Given the description of an element on the screen output the (x, y) to click on. 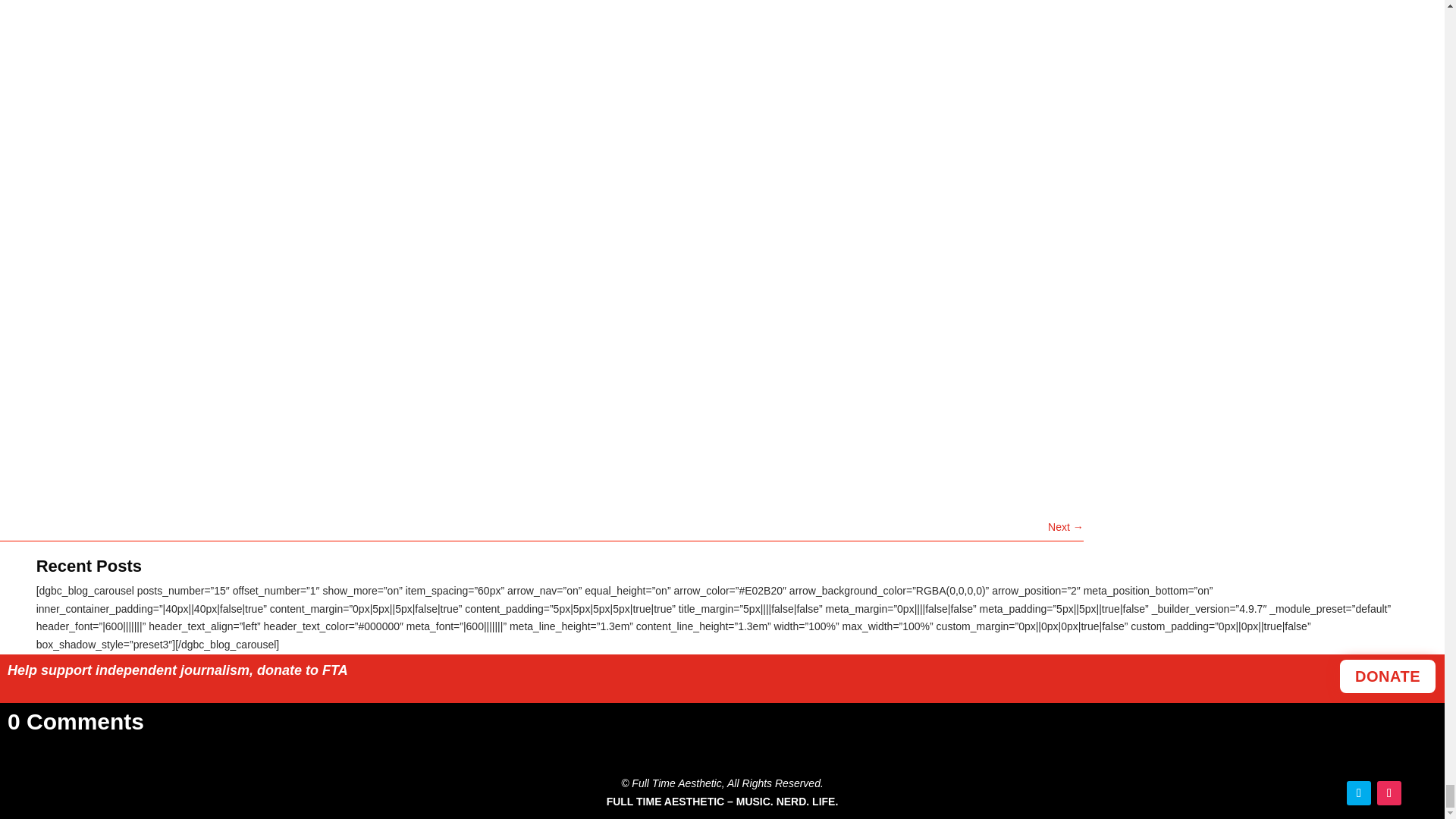
Follow on Instagram (1388, 793)
Follow on Twitter (1358, 793)
DONATE (1387, 676)
